Given the description of an element on the screen output the (x, y) to click on. 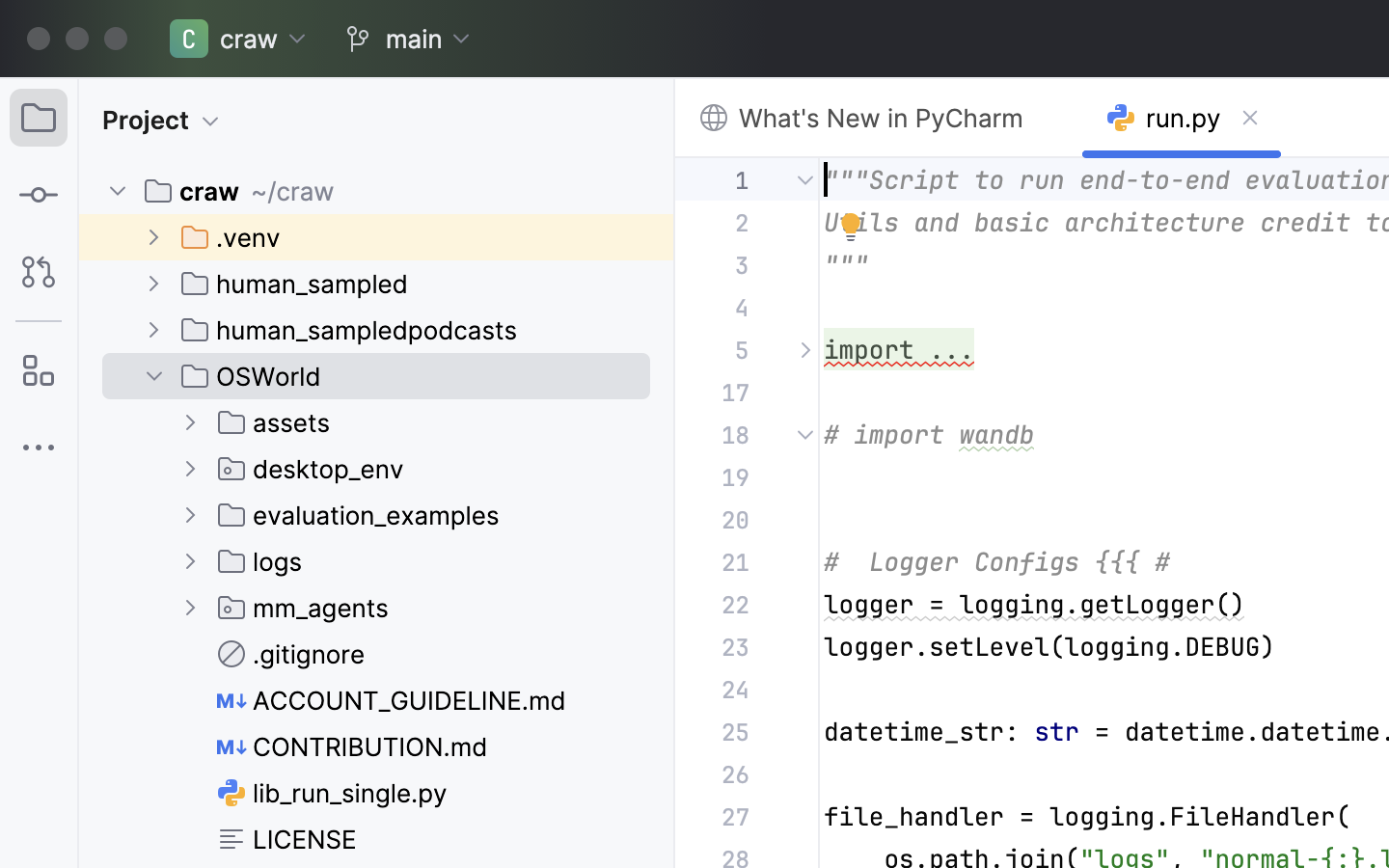
logs Element type: AXStaticText (260, 561)
ACCOUNT_GUIDELINE.md Element type: AXStaticText (392, 700)
lib_run_single.py Element type: AXStaticText (332, 792)
0 Element type: AXRadioButton (879, 118)
mm_agents Element type: AXStaticText (303, 607)
